Given the description of an element on the screen output the (x, y) to click on. 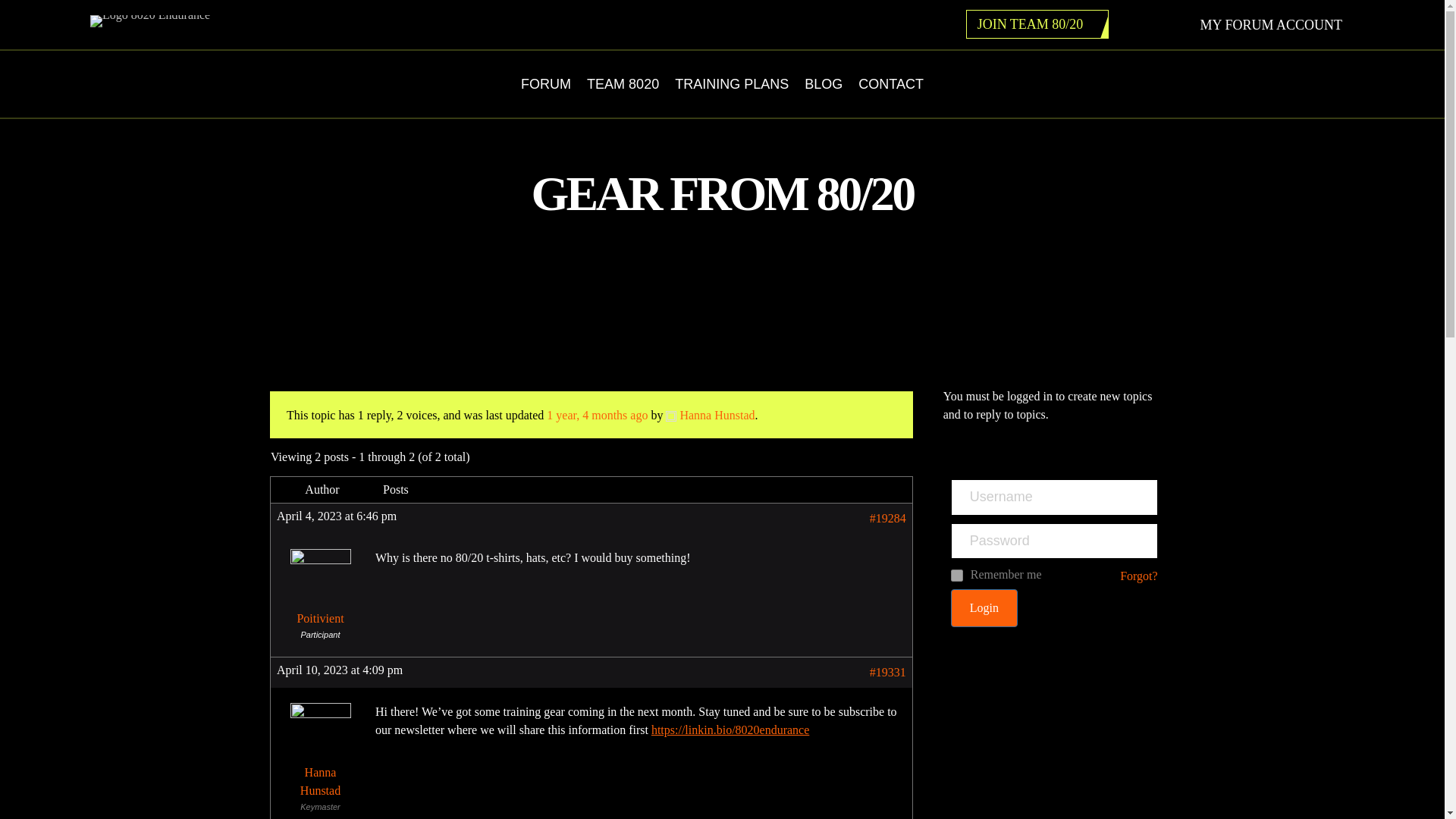
1 (956, 575)
Login (983, 607)
TRAINING PLANS (731, 83)
1 year, 4 months ago (597, 414)
Hanna Hunstad (320, 753)
MY FORUM ACCOUNT (1273, 24)
Lost Password (1138, 576)
logo 8020 Endurance (149, 21)
CONTACT (890, 83)
Hanna Hunstad (709, 414)
